Given the description of an element on the screen output the (x, y) to click on. 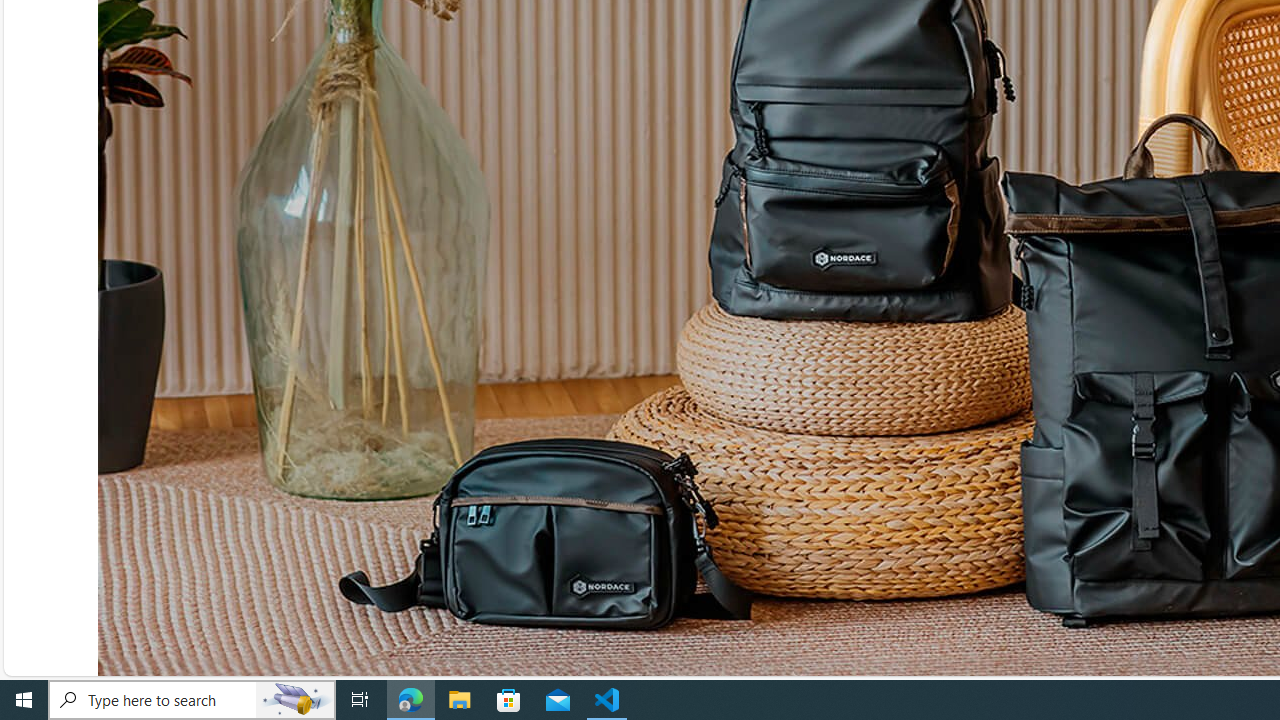
Class: collection-products hover-title product-10 (568, 534)
